Given the description of an element on the screen output the (x, y) to click on. 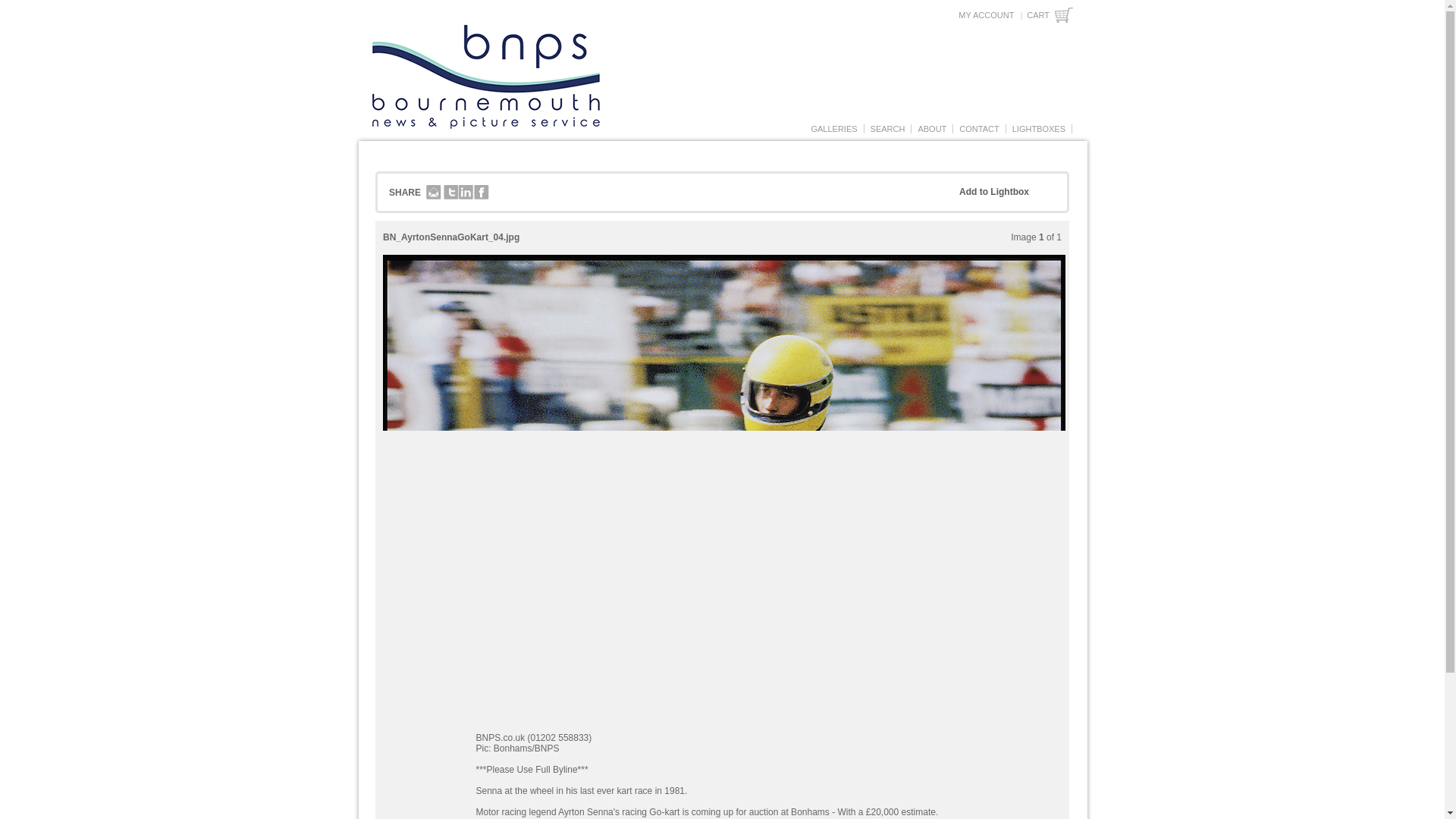
My Account (986, 15)
CART (1049, 14)
SEARCH (887, 128)
Email to a Friend (433, 192)
CONTACT (979, 128)
Contact (979, 128)
About (932, 128)
GALLERIES (833, 128)
Add to Lightbox (1005, 192)
Cart (1049, 14)
